Given the description of an element on the screen output the (x, y) to click on. 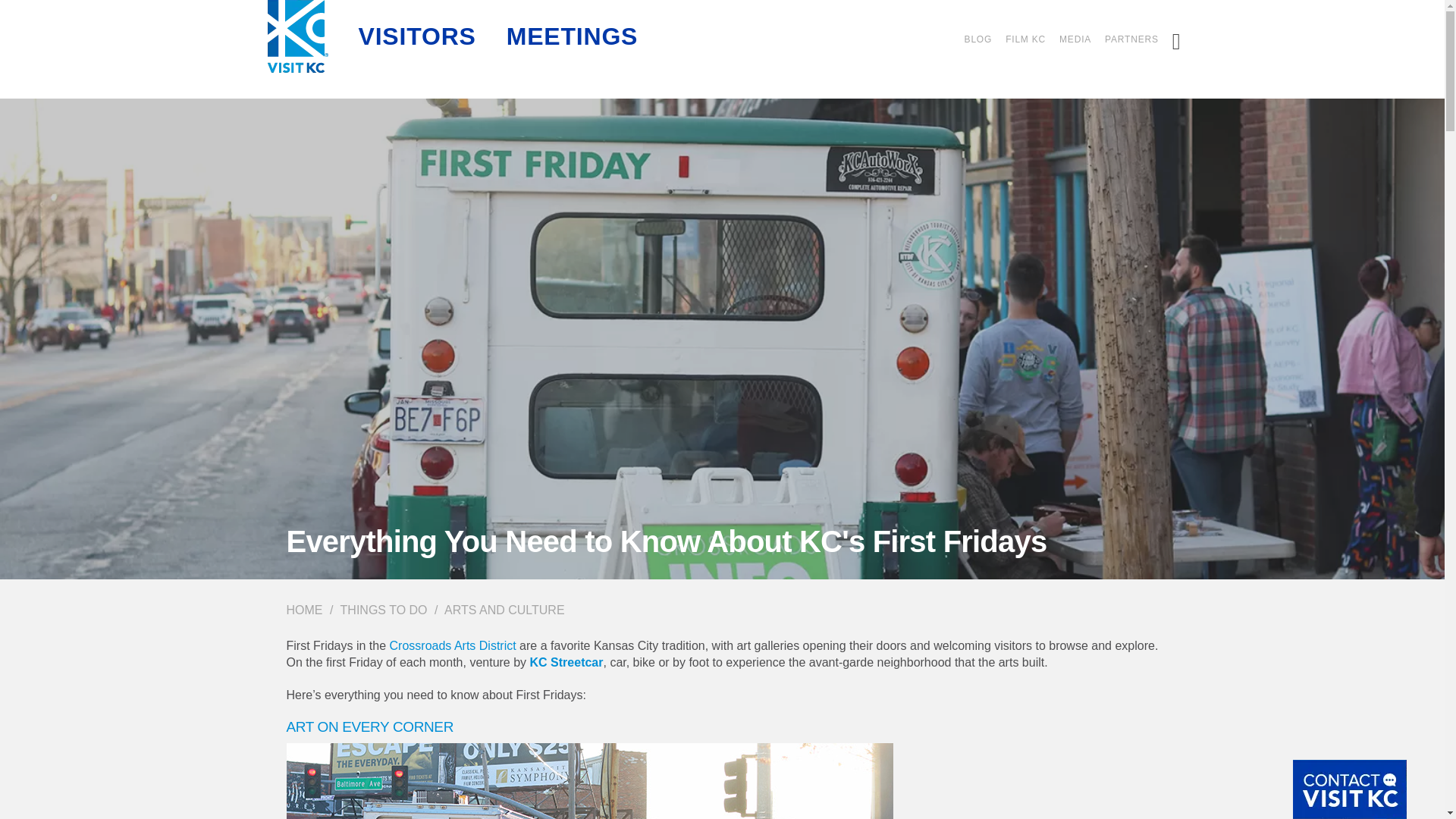
THINGS TO DO (384, 609)
MEETINGS (572, 24)
VISITORS (417, 24)
BLOG (977, 39)
FILM KC (1025, 39)
HOME (304, 609)
MEDIA (1074, 39)
PARTNERS (1131, 39)
